Given the description of an element on the screen output the (x, y) to click on. 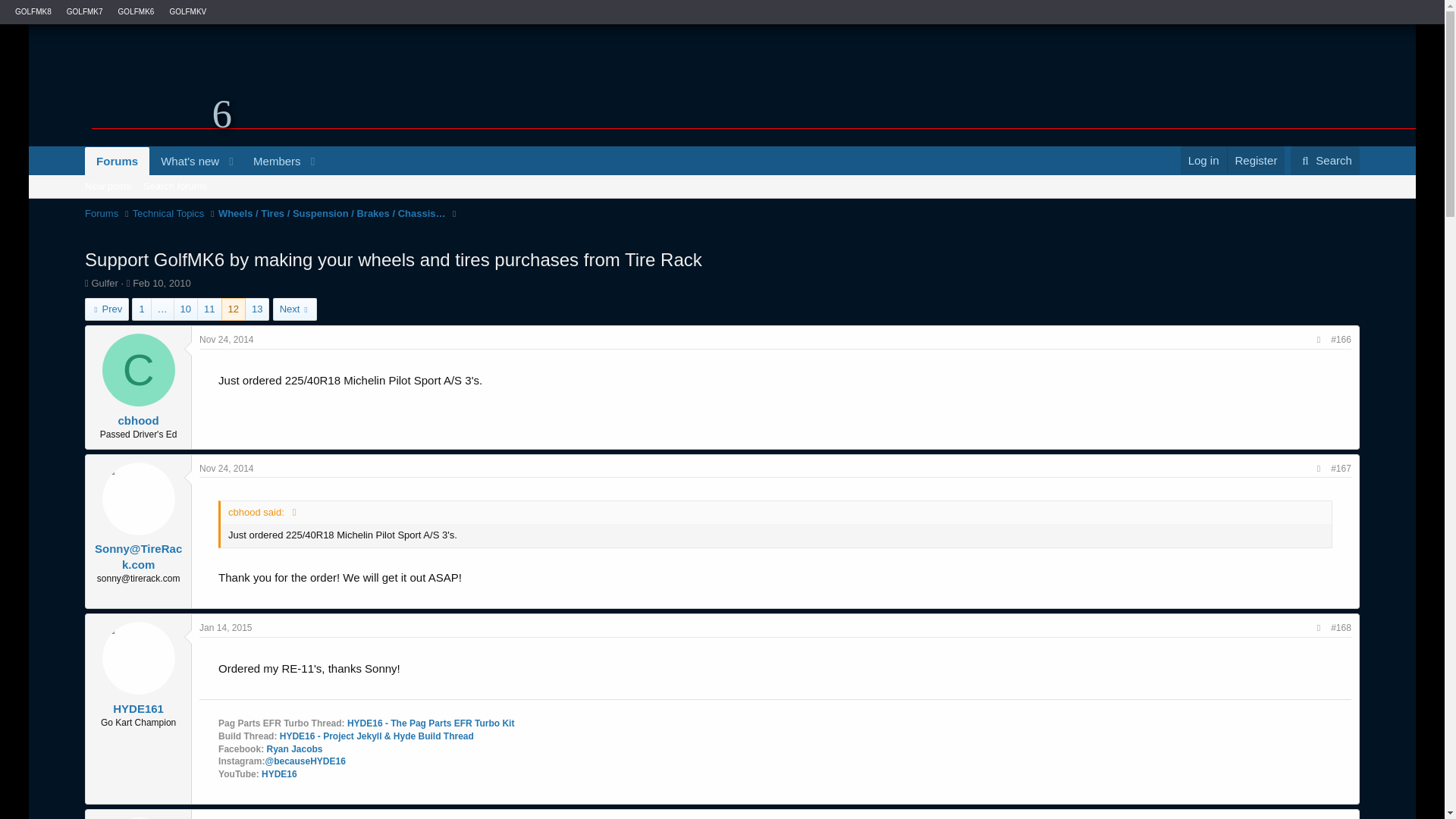
Log in (1203, 159)
GOLFMK8 (32, 11)
GOLFMK7 (84, 11)
Forums (721, 185)
Search (100, 213)
GOLFMK6 (1324, 159)
Go to page (135, 11)
Nov 24, 2014 at 12:31 PM (162, 309)
GOLFMKV (226, 339)
